Given the description of an element on the screen output the (x, y) to click on. 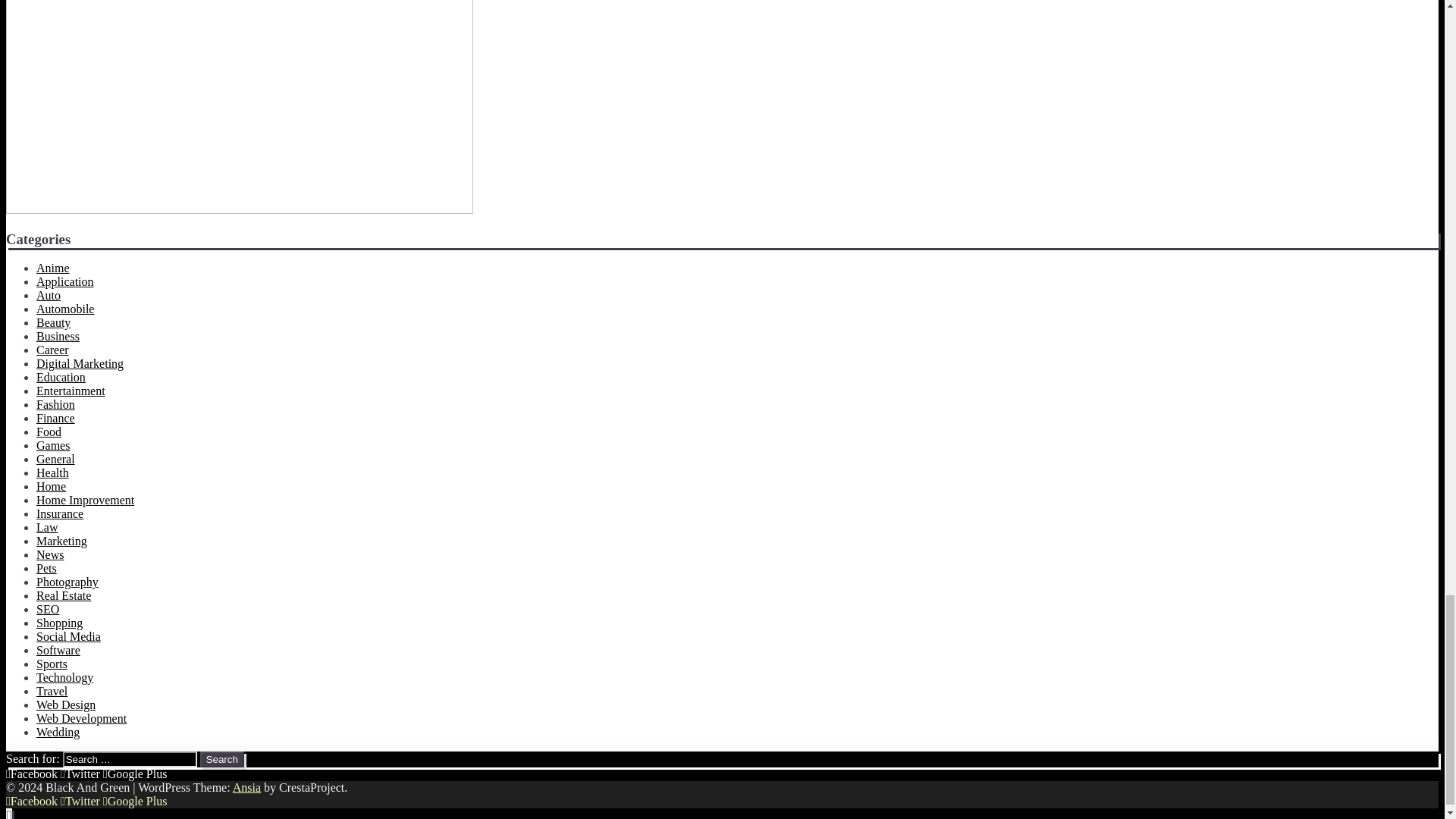
Twitter (80, 773)
Facebook (31, 773)
Ansia Theme (246, 787)
Facebook (31, 800)
Search (222, 759)
Twitter (80, 800)
Google Plus (135, 773)
Search (222, 759)
